Given the description of an element on the screen output the (x, y) to click on. 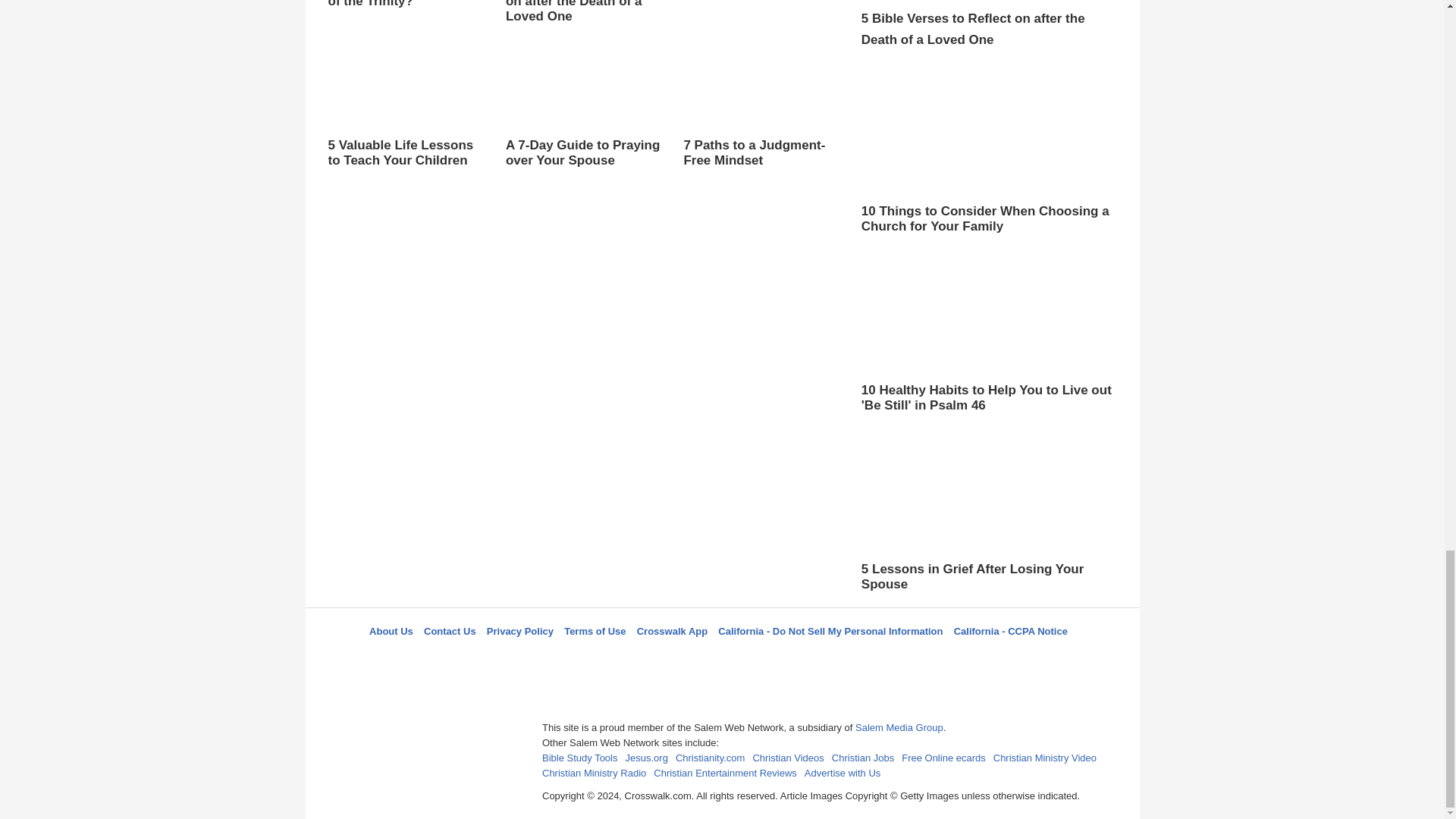
Pinterest (757, 658)
Facebook (645, 658)
7 Paths to a Judgment-Free Mindset (760, 110)
LifeAudio (719, 658)
What Are the Three Parts of the Trinity? (404, 4)
5 Bible Verses to Reflect on after the Death of a Loved One (583, 26)
A 7-Day Guide to Praying over Your Spouse (583, 125)
Twitter (683, 658)
5 Valuable Life Lessons to Teach Your Children (404, 110)
